Given the description of an element on the screen output the (x, y) to click on. 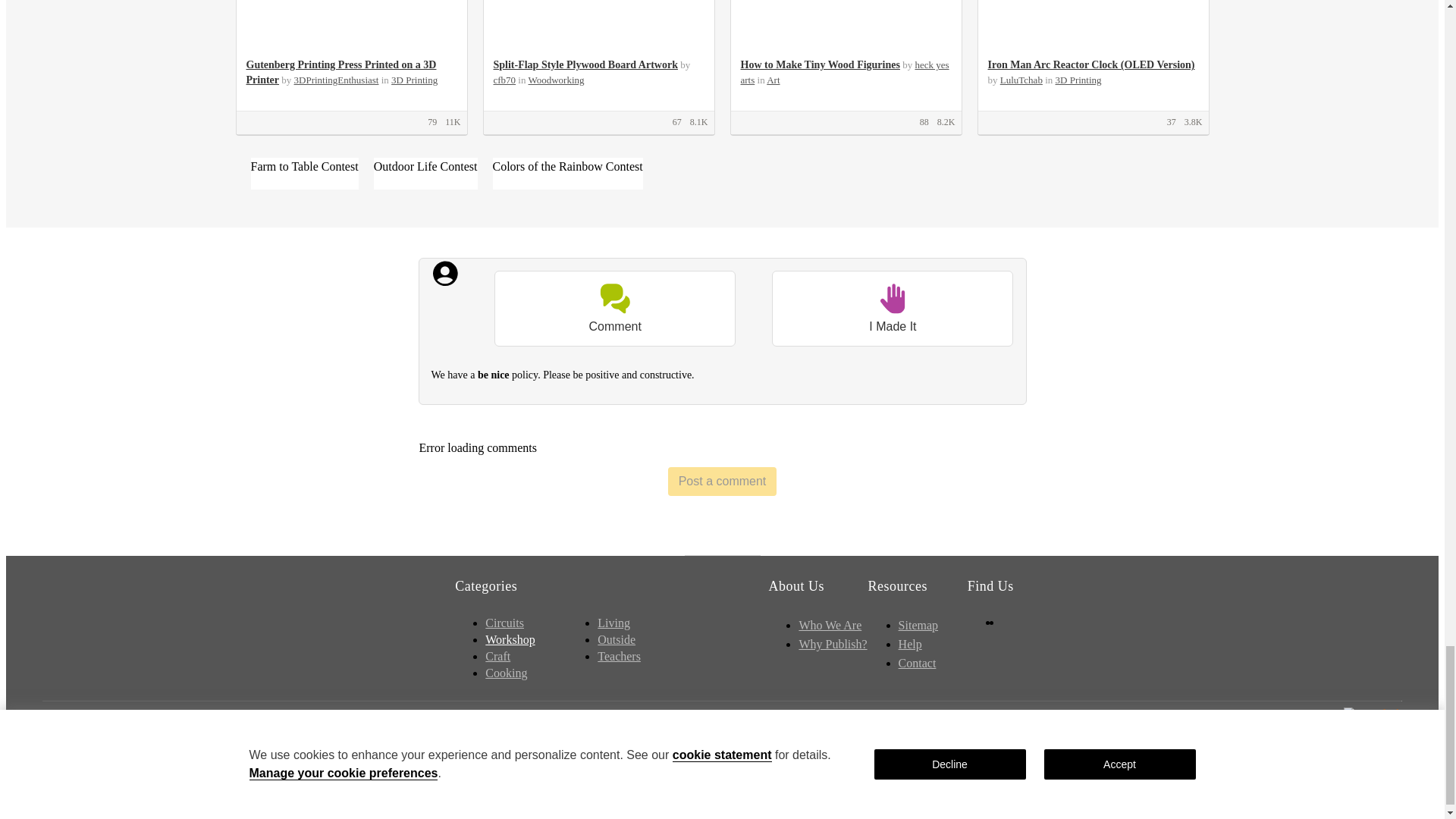
3DPrintingEnthusiast (336, 79)
Gutenberg Printing Press Printed on a 3D Printer (340, 71)
Woodworking (555, 79)
Art (772, 79)
cfb70 (504, 79)
How to Make Tiny Wood Figurines (819, 64)
3D Printing (414, 79)
Split-Flap Style Plywood Board Artwork (585, 64)
heck yes arts (844, 71)
